Given the description of an element on the screen output the (x, y) to click on. 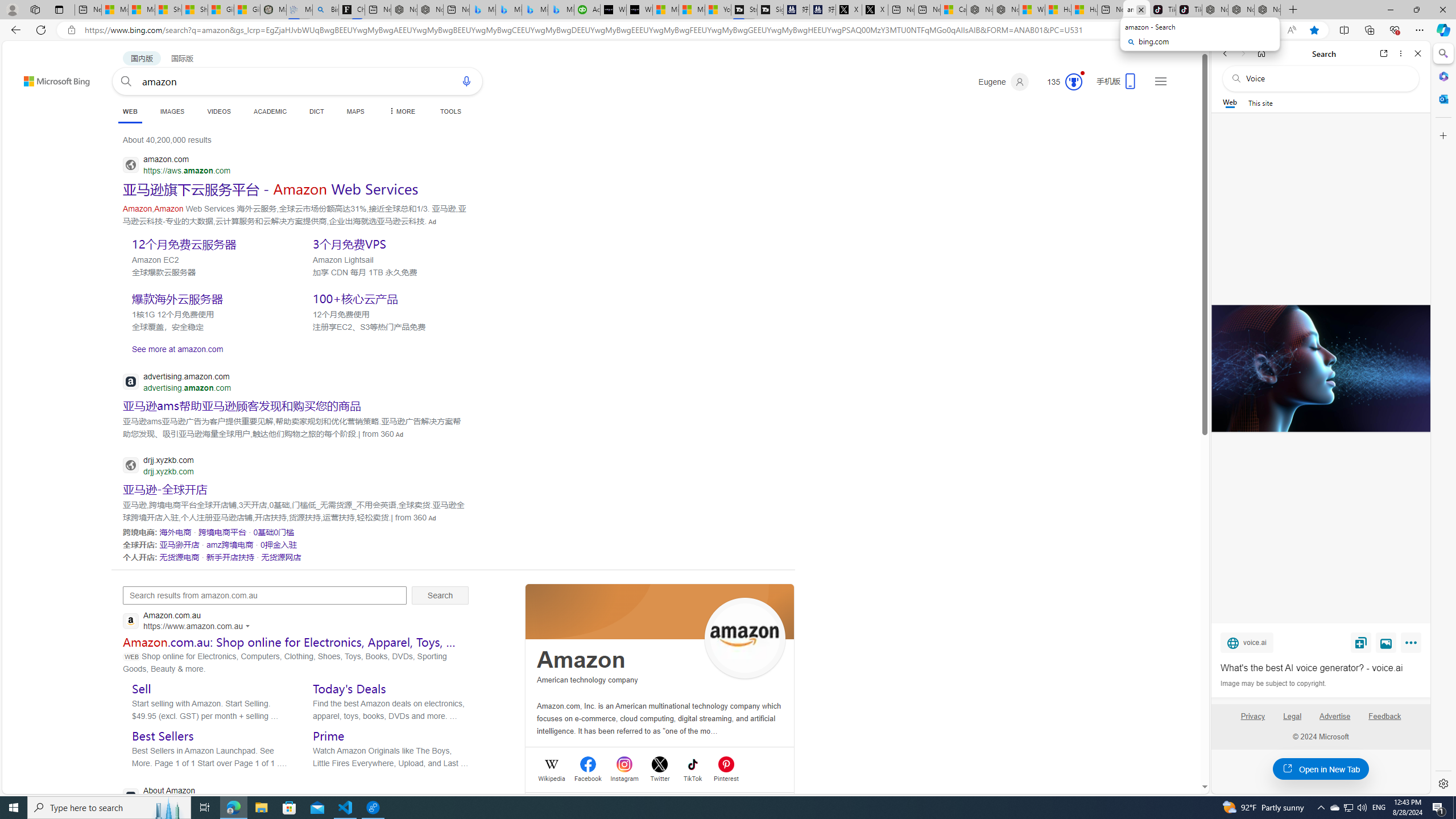
MAPS (355, 111)
SERP,5570 (229, 544)
Instagram (624, 777)
SERP,5568 (273, 532)
SERP,5572 (178, 556)
MORE (400, 111)
